Given the description of an element on the screen output the (x, y) to click on. 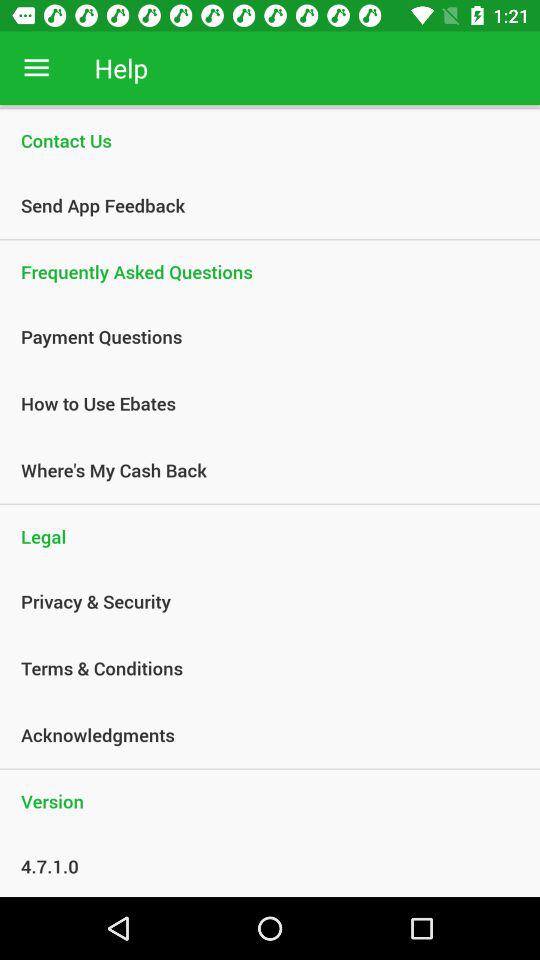
open the icon below version icon (259, 865)
